Given the description of an element on the screen output the (x, y) to click on. 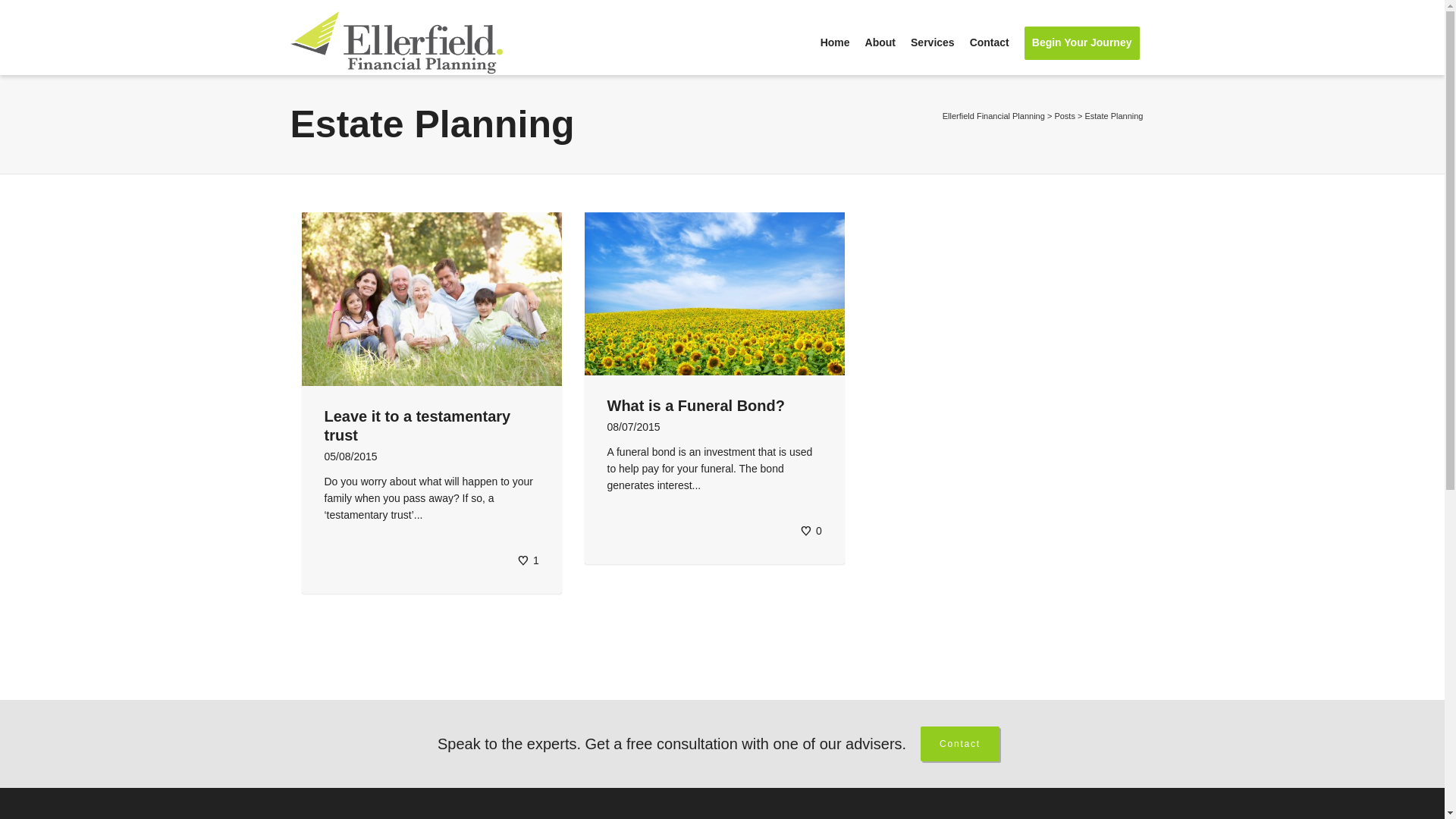
Contact Element type: text (959, 743)
What is a Funeral Bond? Element type: text (695, 405)
Ellerfield Financial Planning Element type: text (993, 115)
Posts Element type: text (1064, 115)
Begin Your Journey Element type: text (1081, 42)
Services Element type: text (932, 42)
Contact Element type: text (989, 42)
About Element type: text (880, 42)
Home Element type: text (835, 42)
Leave it to a testamentary trust Element type: text (417, 425)
